Given the description of an element on the screen output the (x, y) to click on. 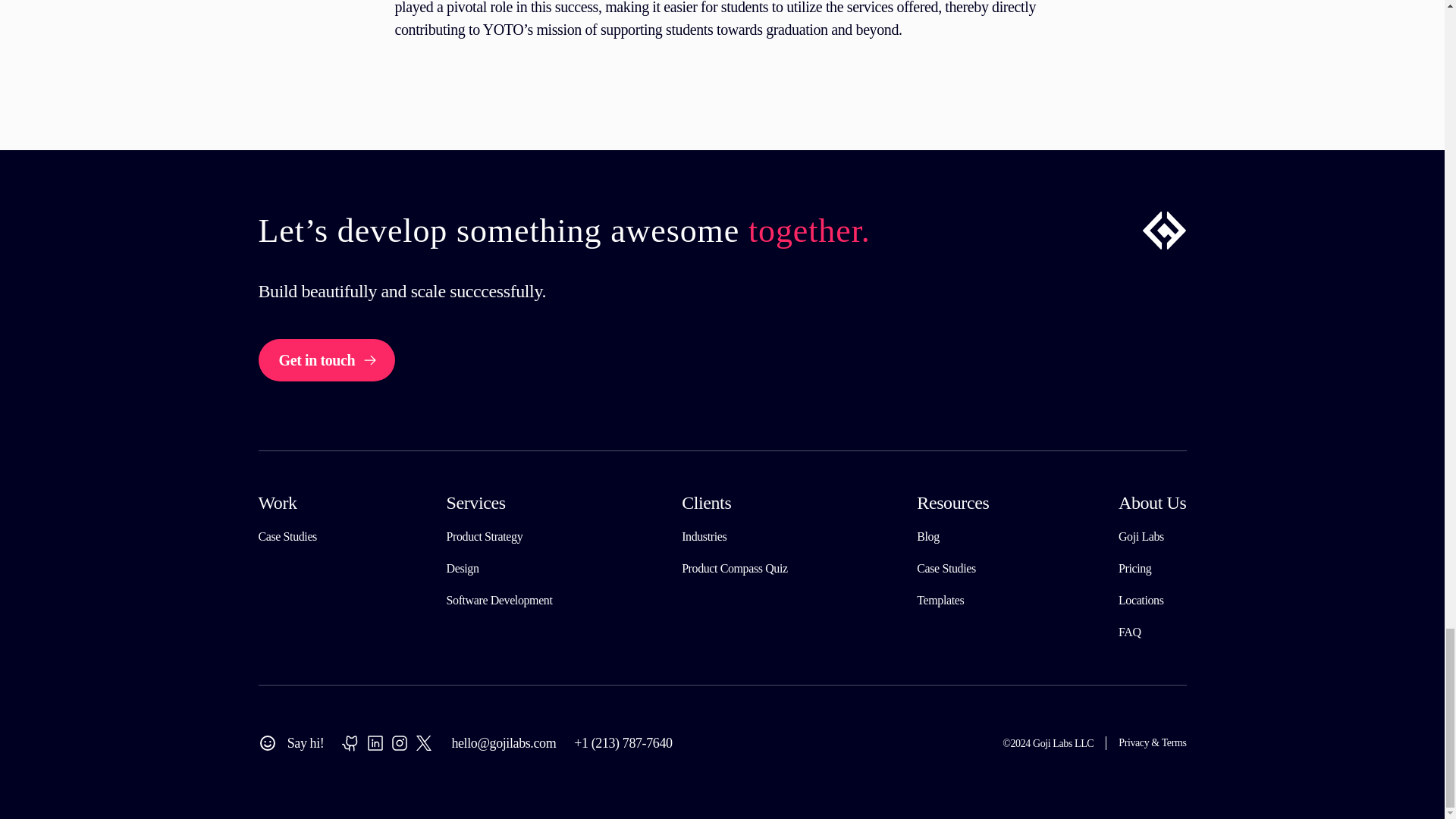
Read us at Twitter (423, 742)
Read us at Linkedin (375, 742)
Check us at Github (350, 742)
View us in Instagram (399, 742)
